Given the description of an element on the screen output the (x, y) to click on. 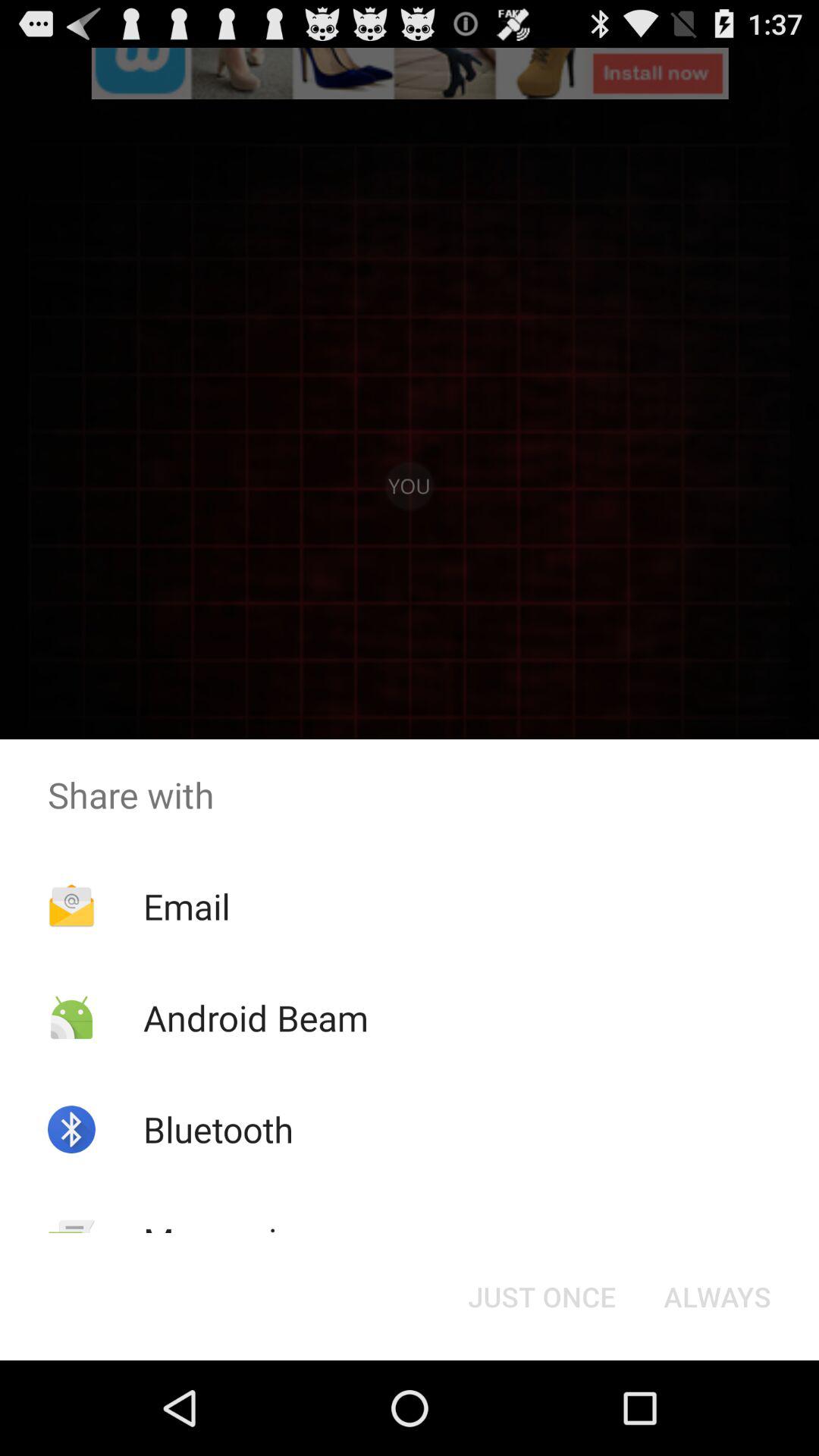
open item above the android beam item (186, 906)
